Given the description of an element on the screen output the (x, y) to click on. 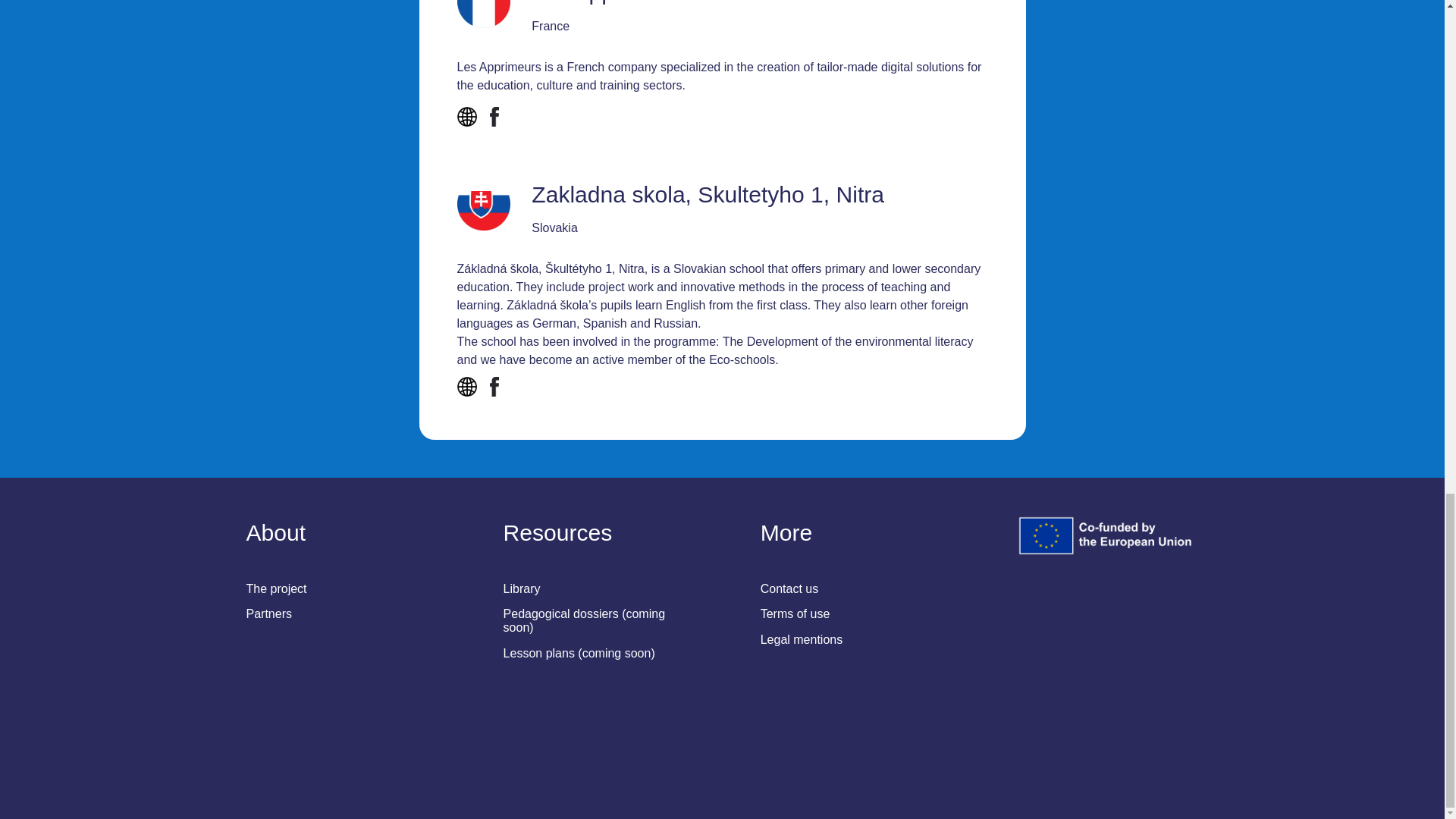
The project (275, 591)
Partners (268, 617)
